Given the description of an element on the screen output the (x, y) to click on. 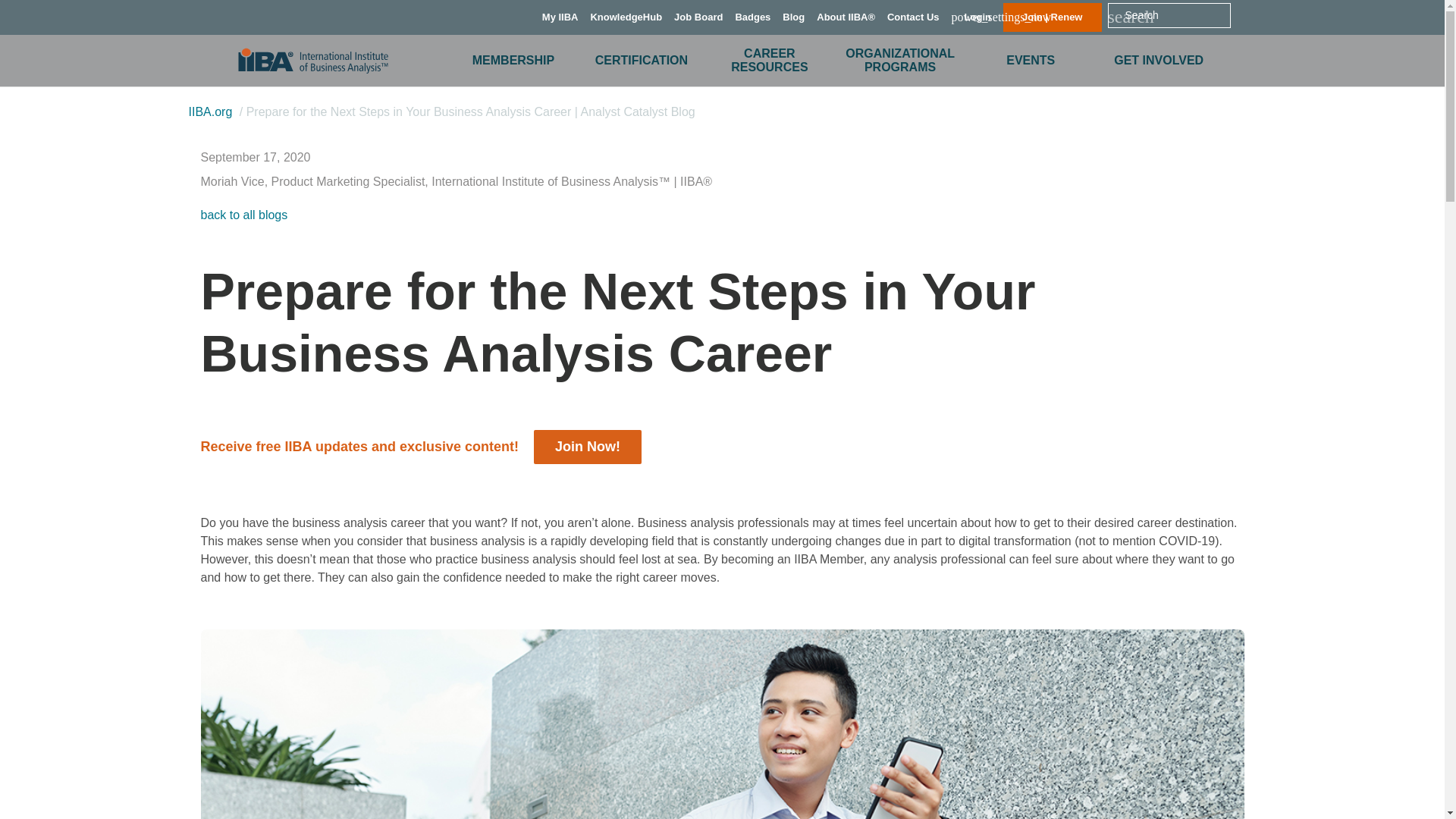
Blog (794, 17)
Sign Up for IIBA Emails (587, 446)
Contact Us (912, 17)
CAREER RESOURCES (768, 60)
KnowledgeHub (625, 17)
MEMBERSHIP (513, 59)
CERTIFICATION (641, 59)
Badges (752, 17)
My IIBA (559, 17)
Job Board (698, 17)
